Given the description of an element on the screen output the (x, y) to click on. 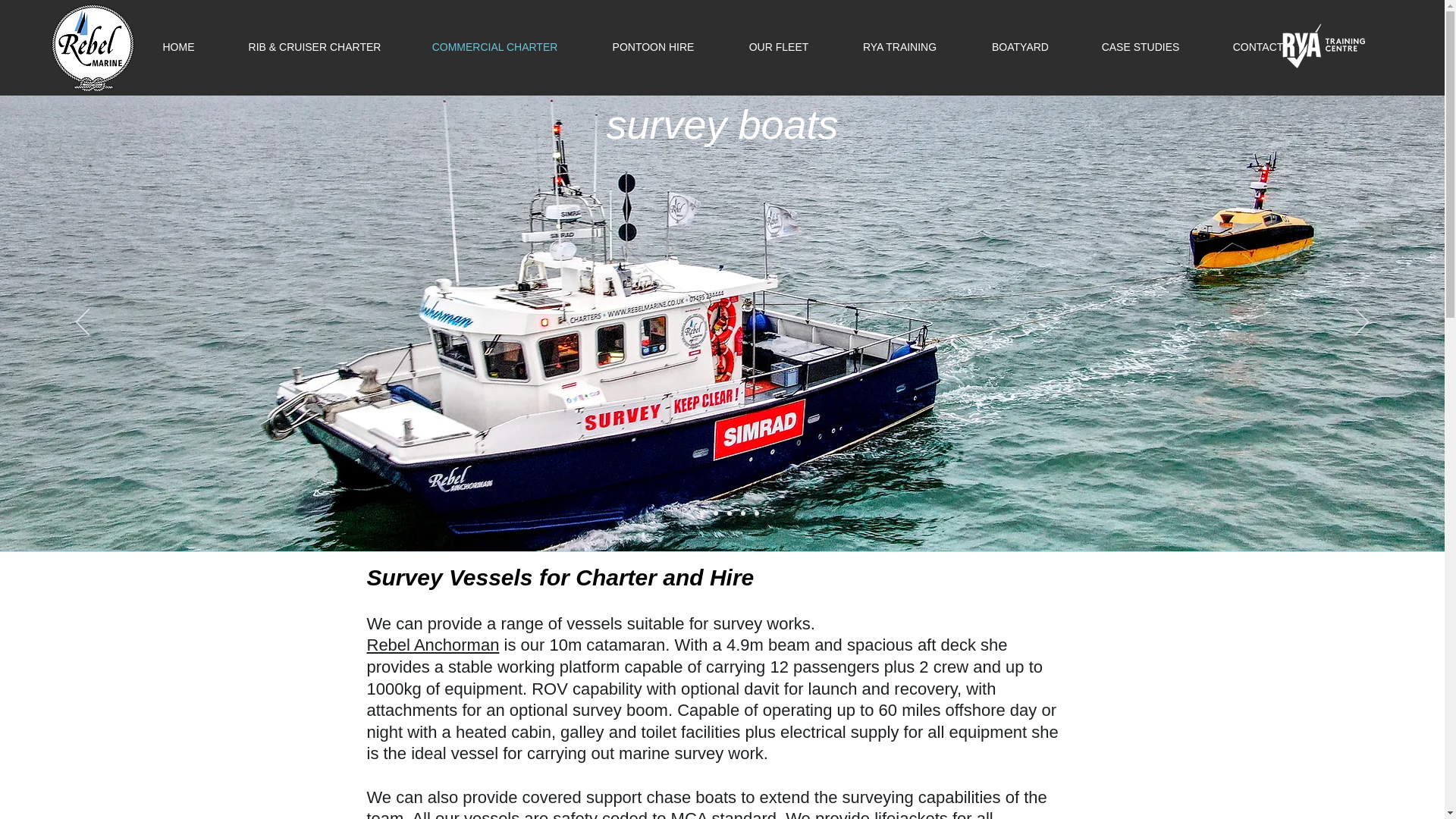
PONTOON HIRE (652, 46)
COMMERCIAL CHARTER (494, 46)
OUR FLEET (778, 46)
HOME (178, 46)
